Given the description of an element on the screen output the (x, y) to click on. 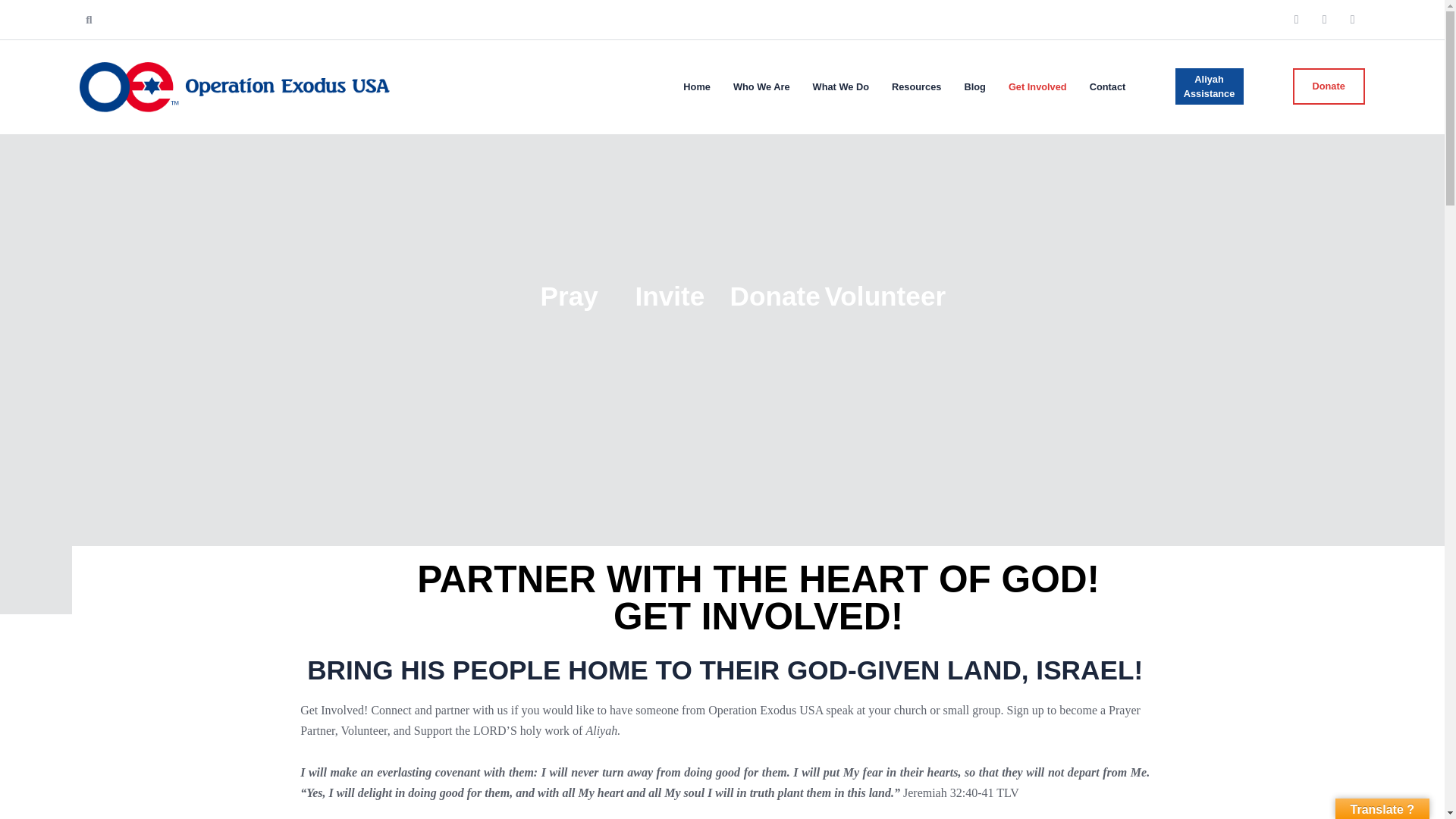
Blog (973, 86)
Contact (1107, 86)
Resources (916, 86)
Who We Are (761, 86)
What We Do (840, 86)
Home (696, 86)
Get Involved (1037, 86)
